Given the description of an element on the screen output the (x, y) to click on. 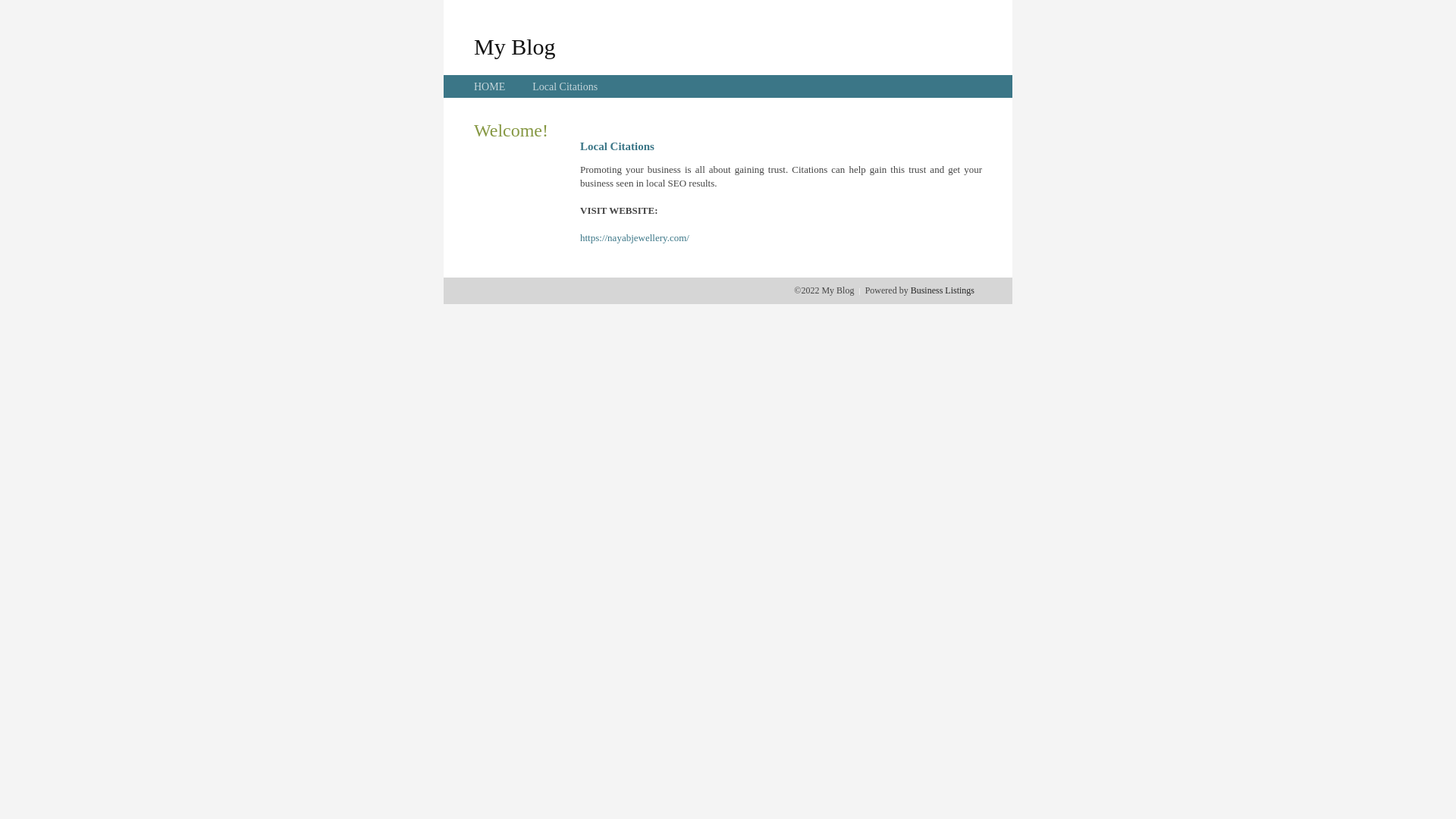
HOME Element type: text (489, 86)
https://nayabjewellery.com/ Element type: text (634, 237)
Business Listings Element type: text (942, 290)
My Blog Element type: text (514, 46)
Local Citations Element type: text (564, 86)
